Given the description of an element on the screen output the (x, y) to click on. 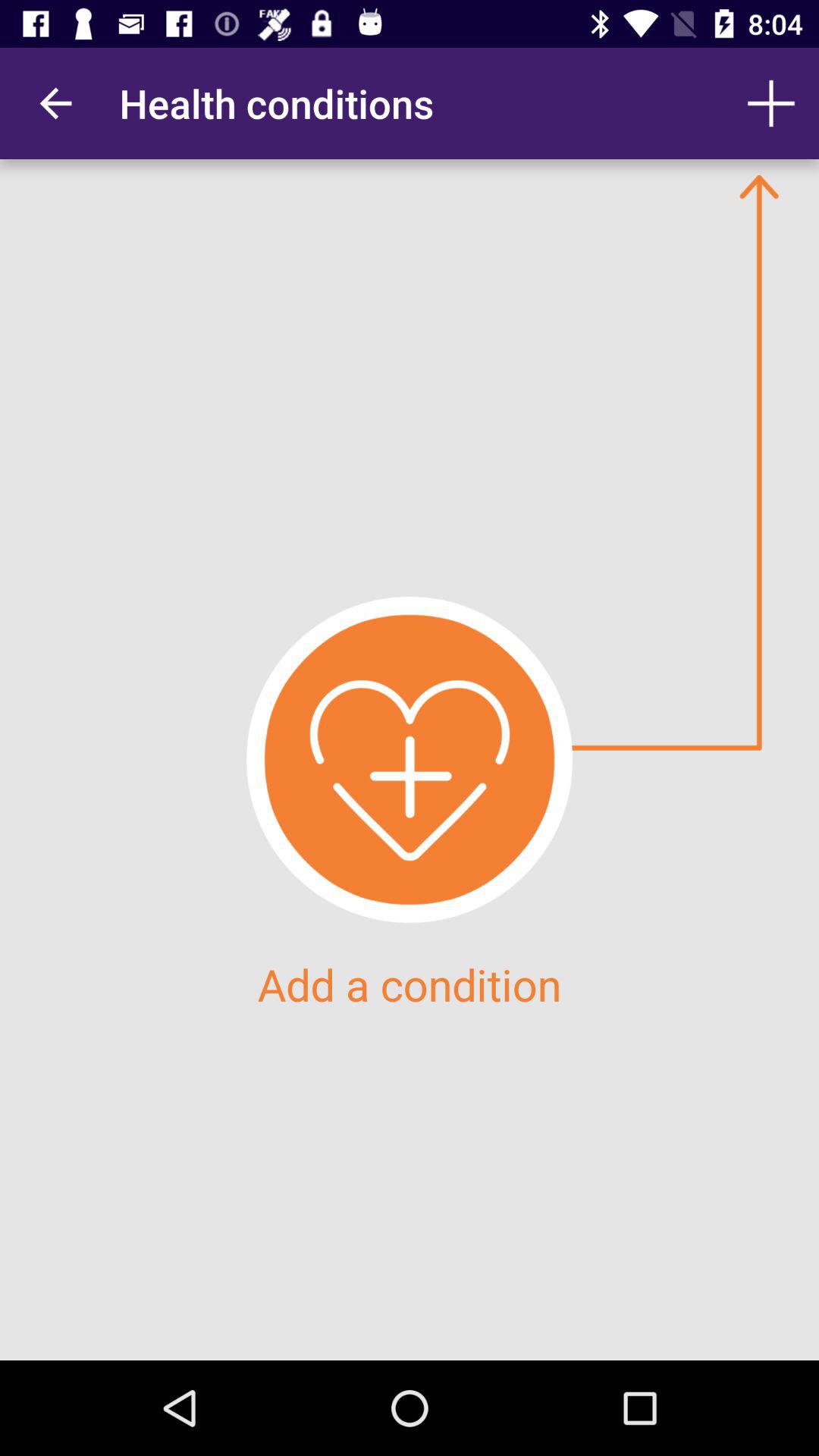
choose the item at the top left corner (55, 103)
